Given the description of an element on the screen output the (x, y) to click on. 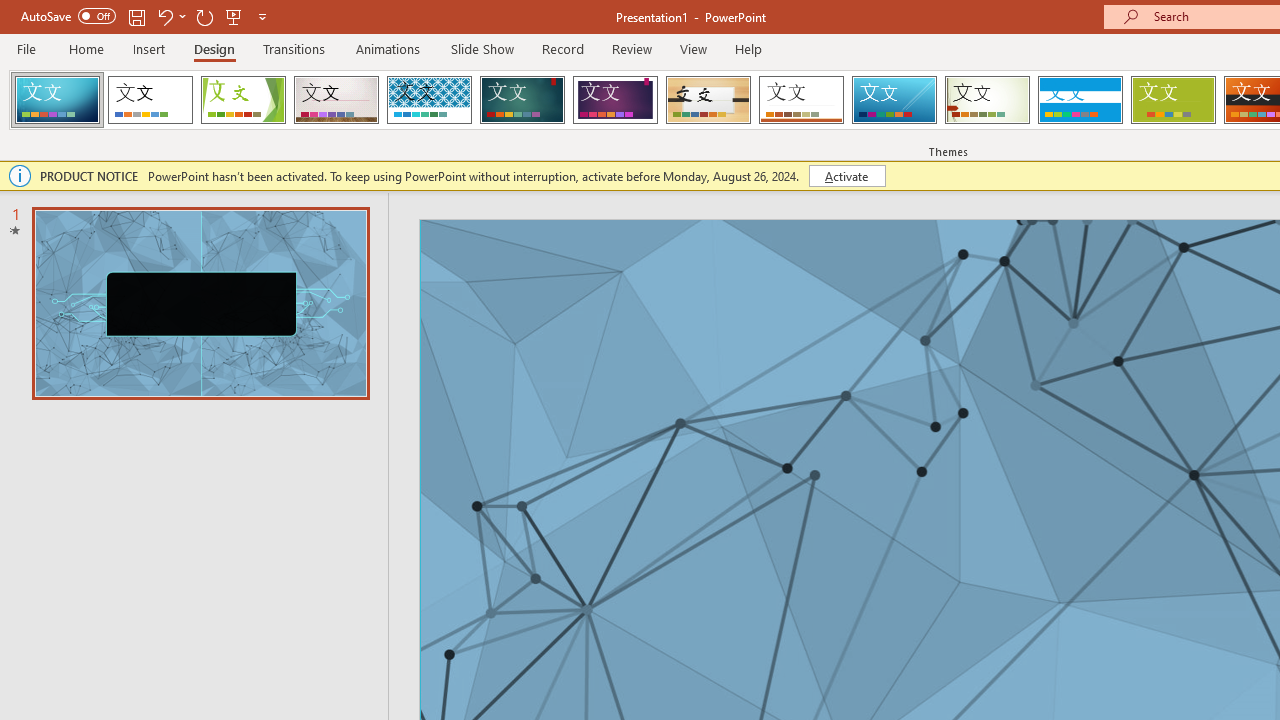
Activate (846, 175)
